Given the description of an element on the screen output the (x, y) to click on. 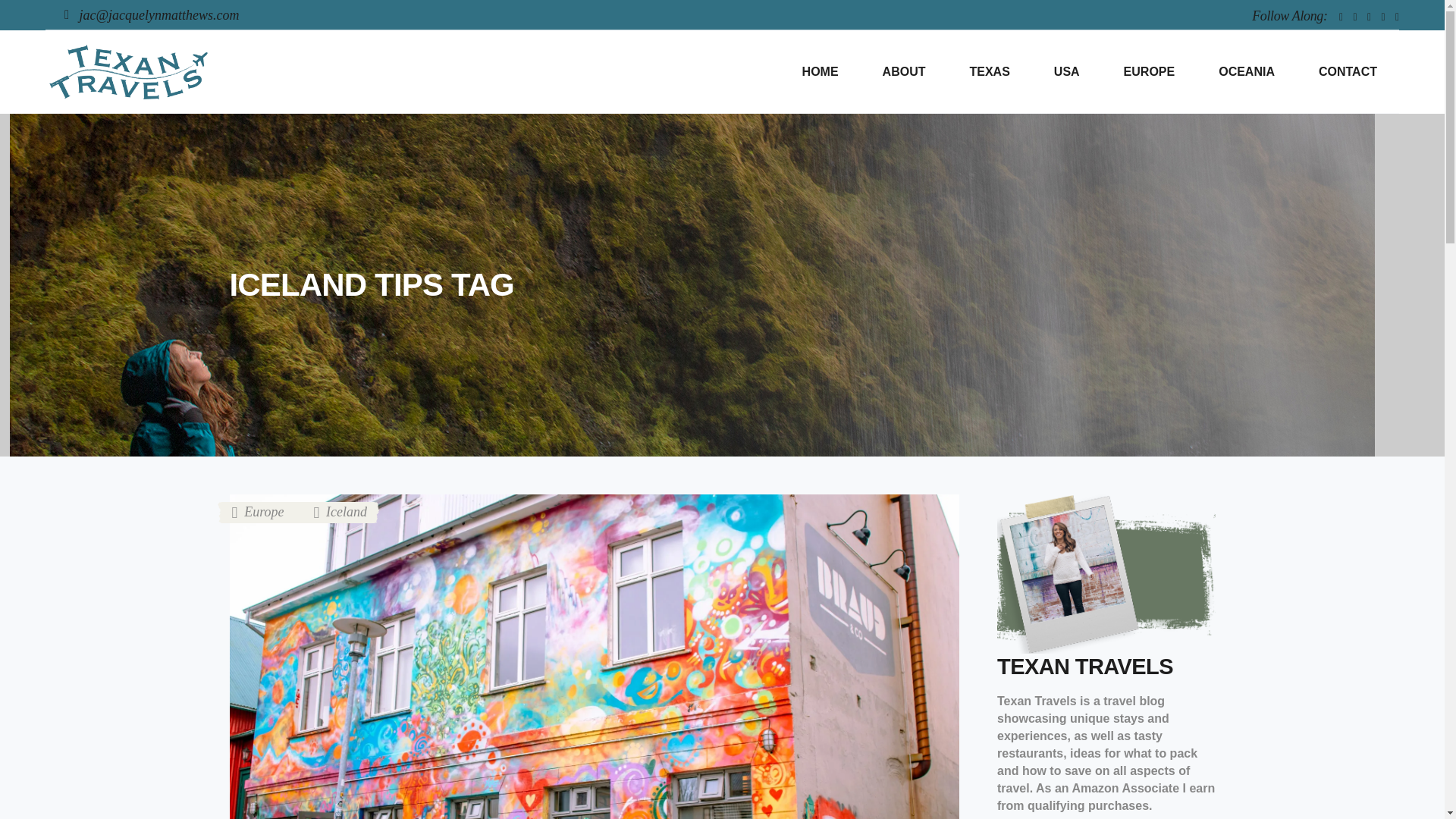
HOME (820, 71)
OCEANIA (1246, 71)
CONTACT (1348, 71)
EUROPE (1149, 71)
TEXAS (988, 71)
ABOUT (903, 71)
USA (1067, 71)
